Given the description of an element on the screen output the (x, y) to click on. 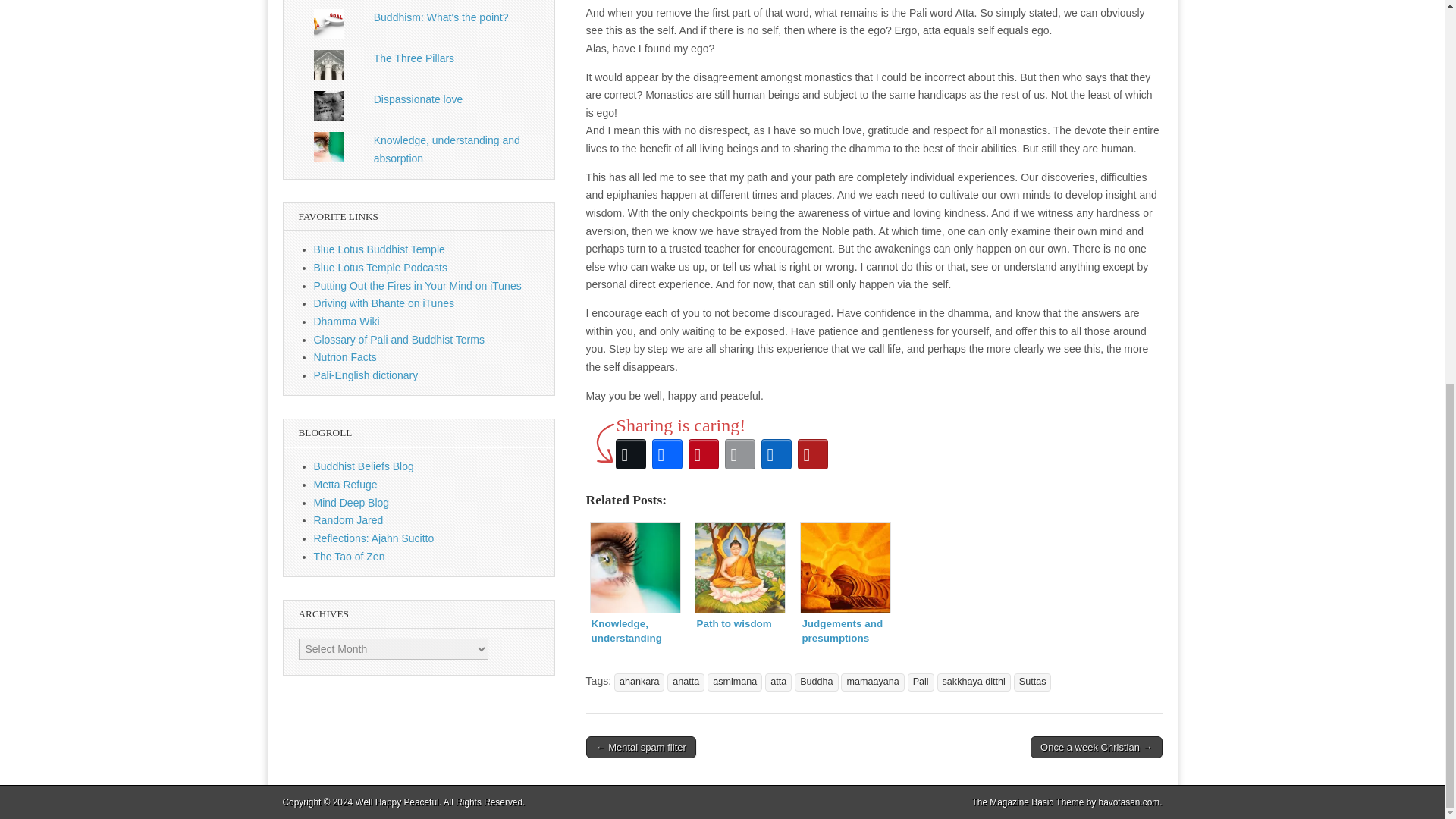
LinkedIn (776, 453)
Facebook (667, 453)
sakkhaya ditthi (973, 682)
Email This (740, 453)
Suttas (1032, 682)
ahankara (639, 682)
anatta (685, 682)
asmimana (734, 682)
Flipboard (812, 453)
Pali (920, 682)
Buddha (816, 682)
mamaayana (872, 682)
atta (778, 682)
Pinterest (703, 453)
